Given the description of an element on the screen output the (x, y) to click on. 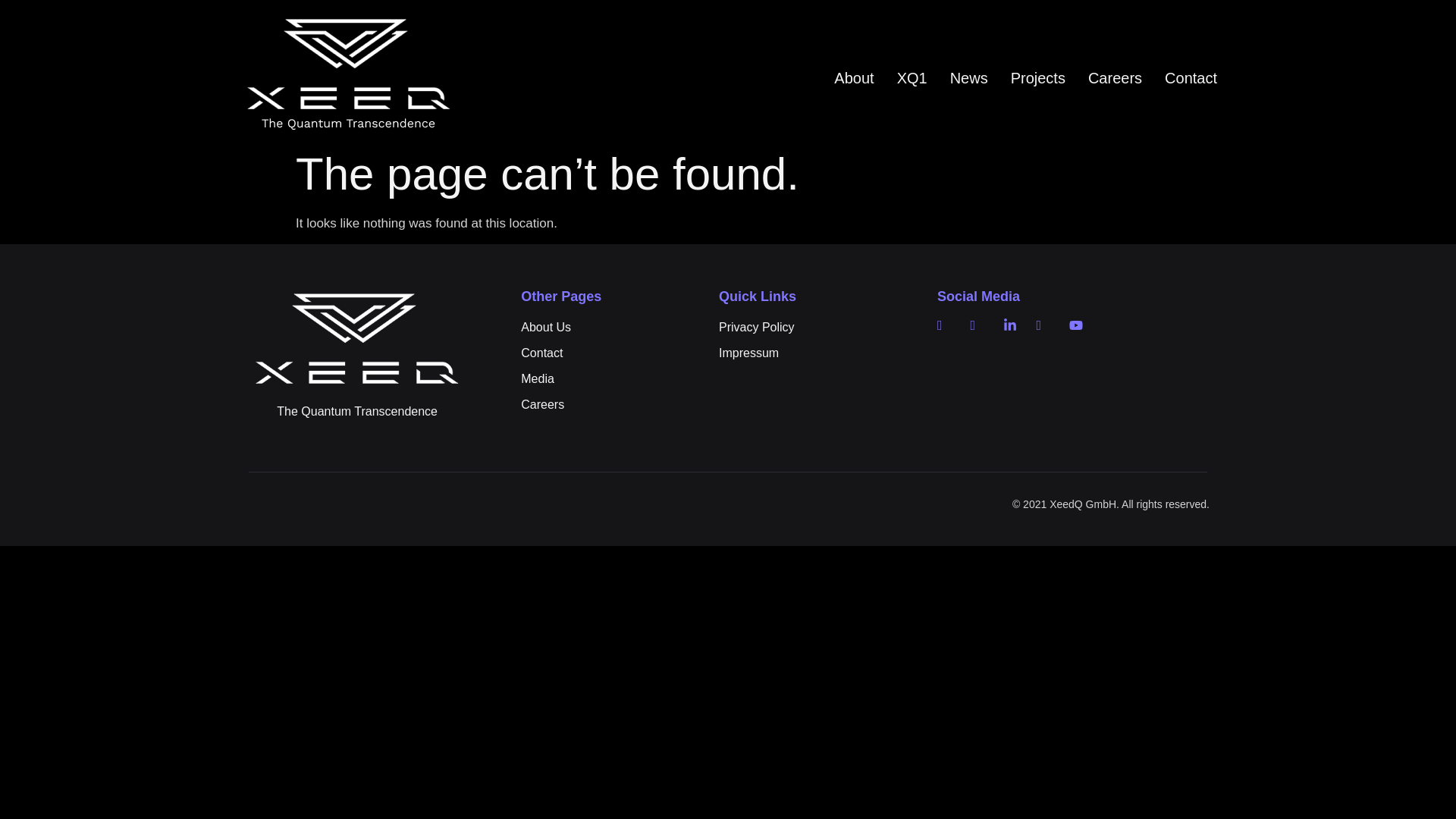
Contact (612, 352)
Media (612, 379)
Xq-logo (356, 338)
xq-logo-2 (349, 73)
Impressum (809, 352)
Projects (1037, 77)
News (969, 77)
Careers (612, 404)
About Us (612, 327)
About (853, 77)
